Given the description of an element on the screen output the (x, y) to click on. 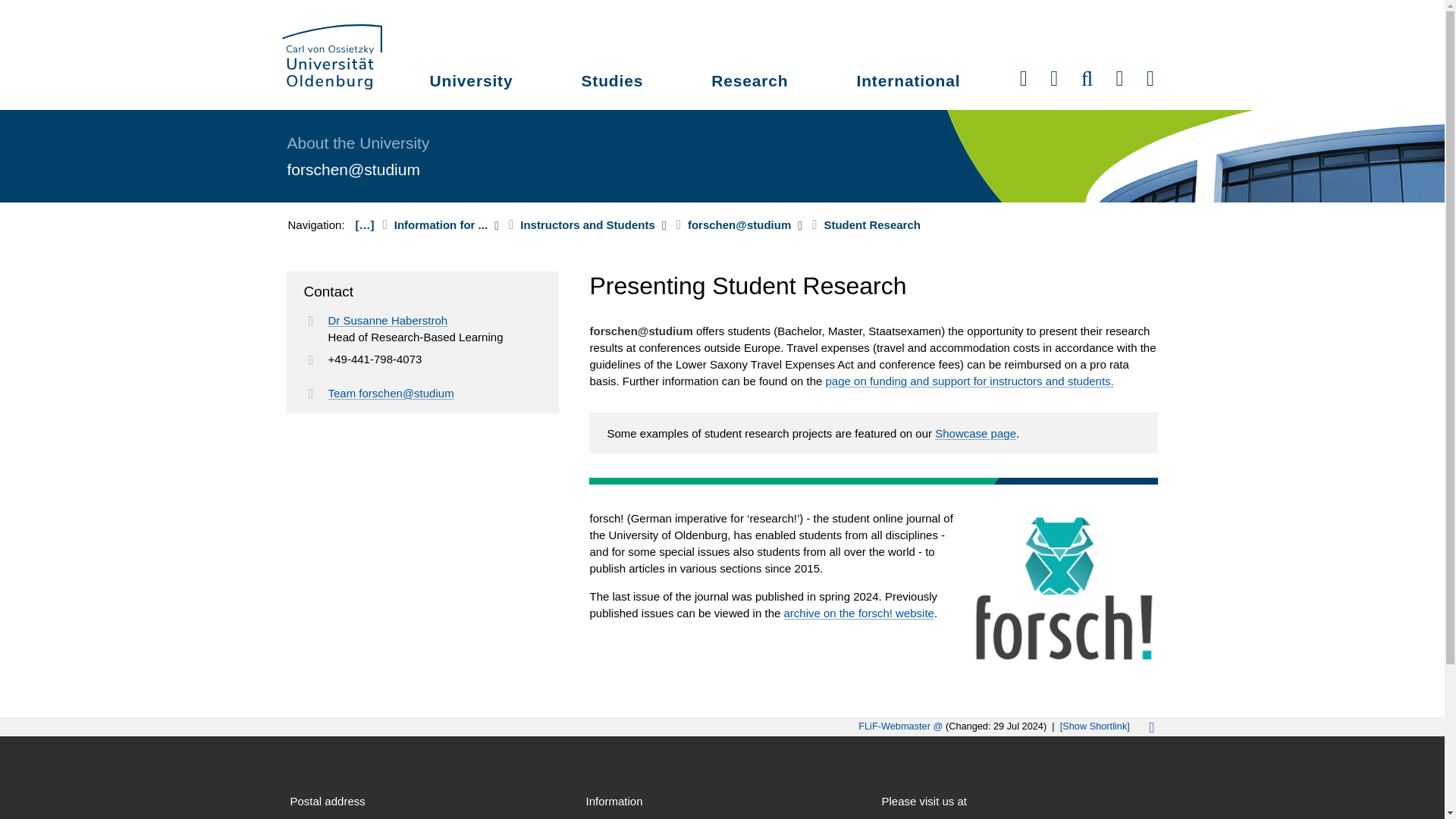
University (471, 83)
Studies (612, 83)
University (471, 83)
